Given the description of an element on the screen output the (x, y) to click on. 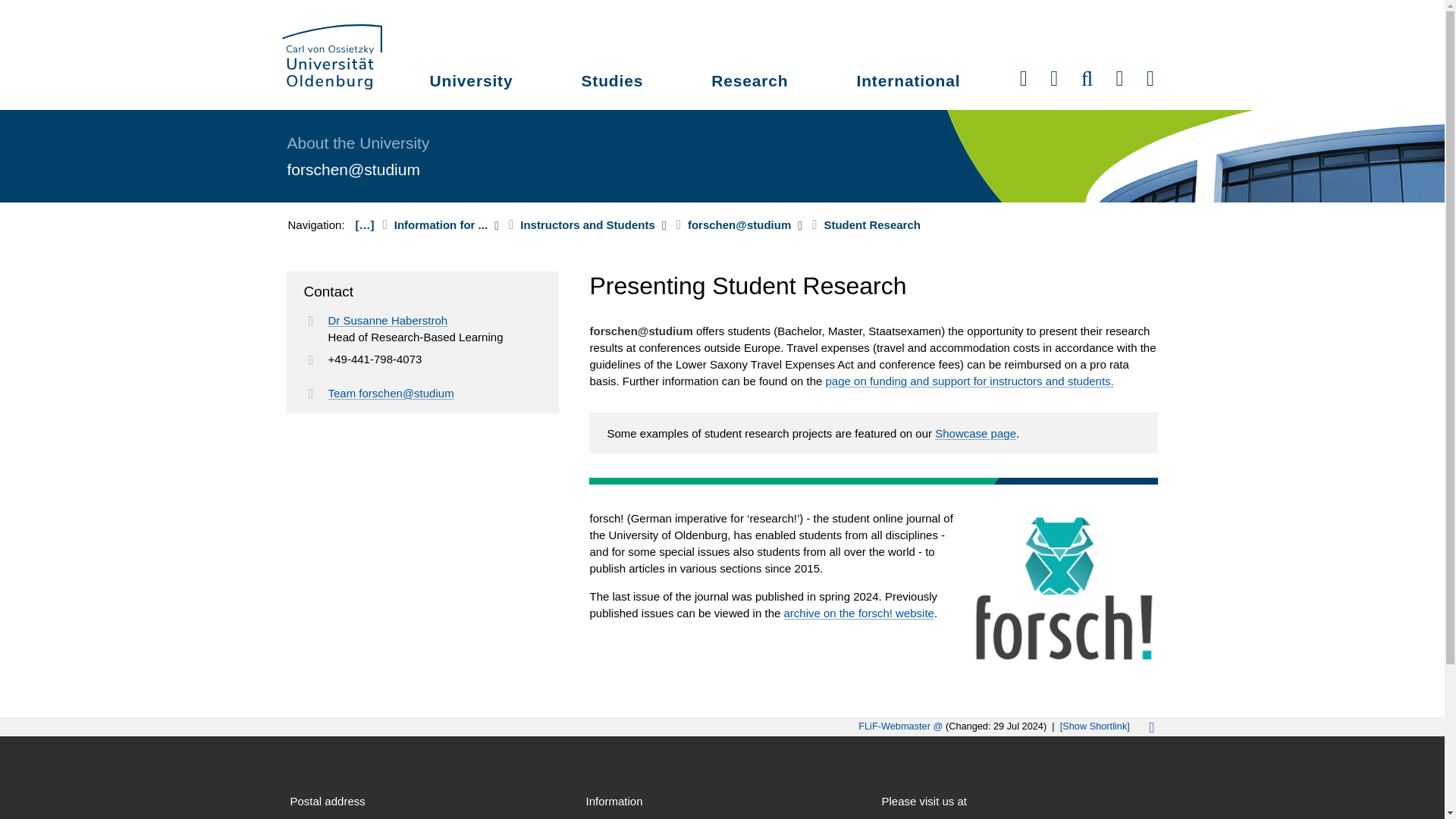
University (471, 83)
Studies (612, 83)
University (471, 83)
